Given the description of an element on the screen output the (x, y) to click on. 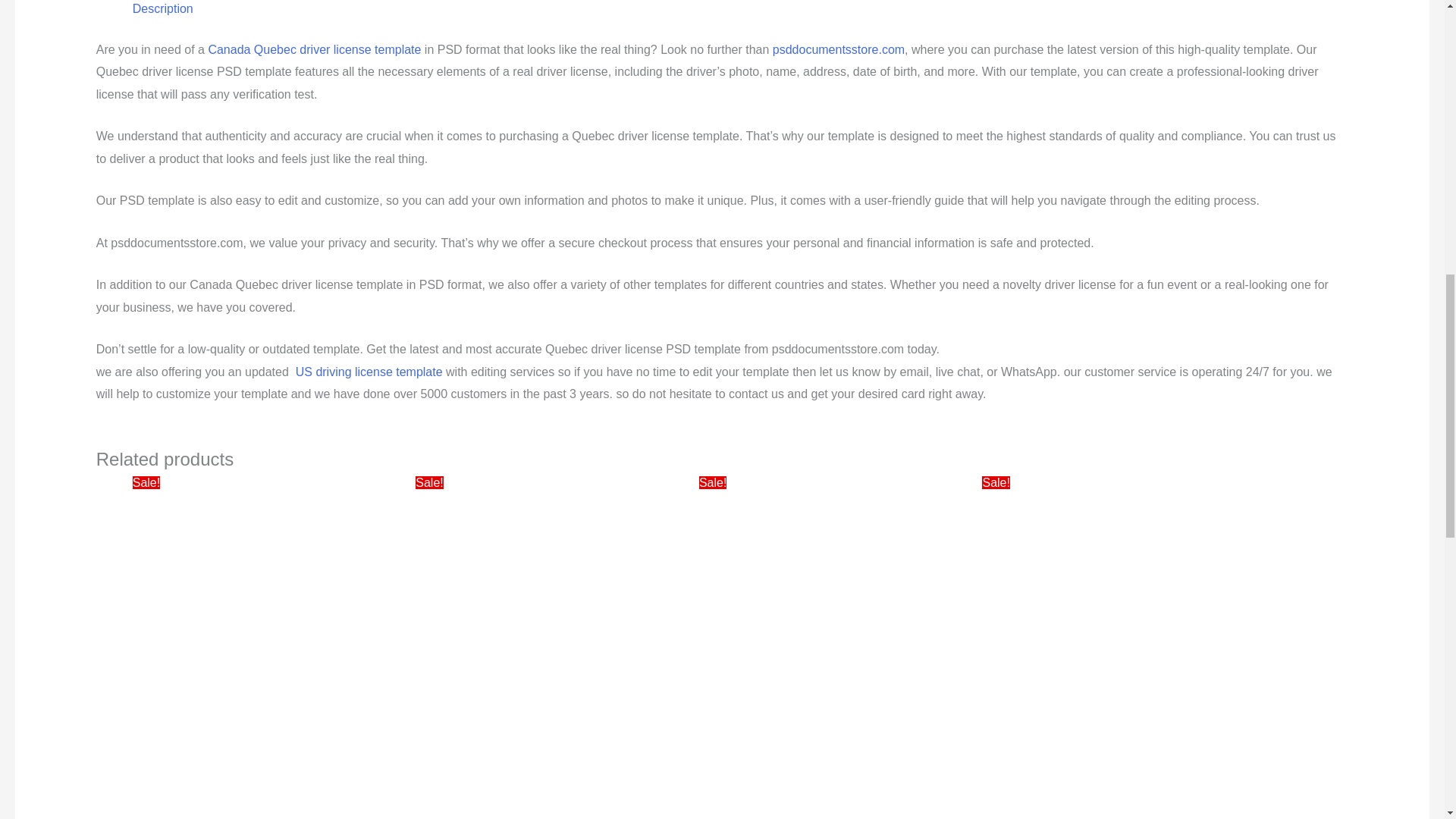
US driving license template (368, 371)
Canada Quebec driver license template (314, 49)
Description (162, 8)
psddocumentsstore.com (838, 49)
